Given the description of an element on the screen output the (x, y) to click on. 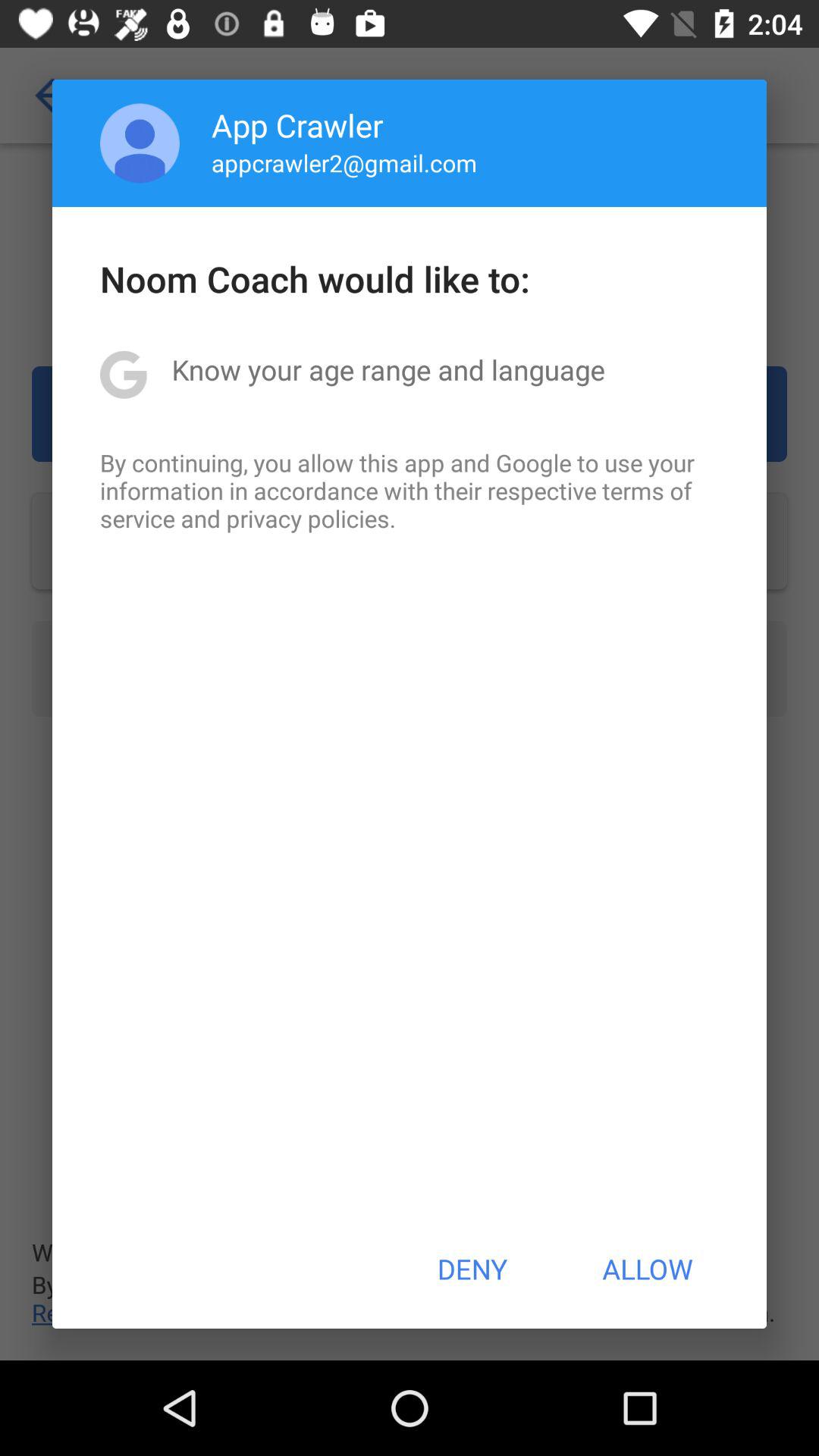
click icon below the noom coach would (388, 369)
